Given the description of an element on the screen output the (x, y) to click on. 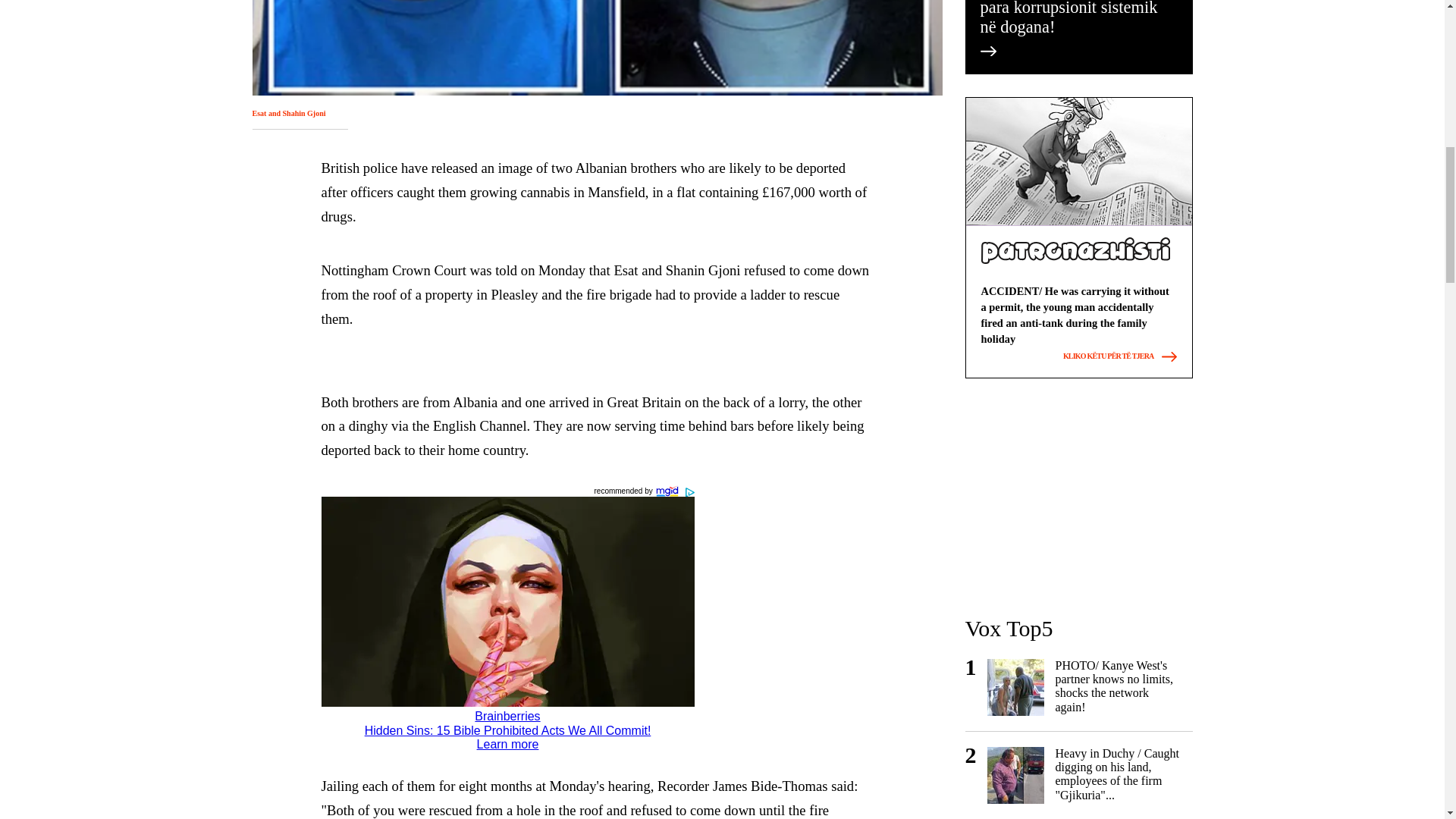
3rd party ad content (1077, 495)
